Given the description of an element on the screen output the (x, y) to click on. 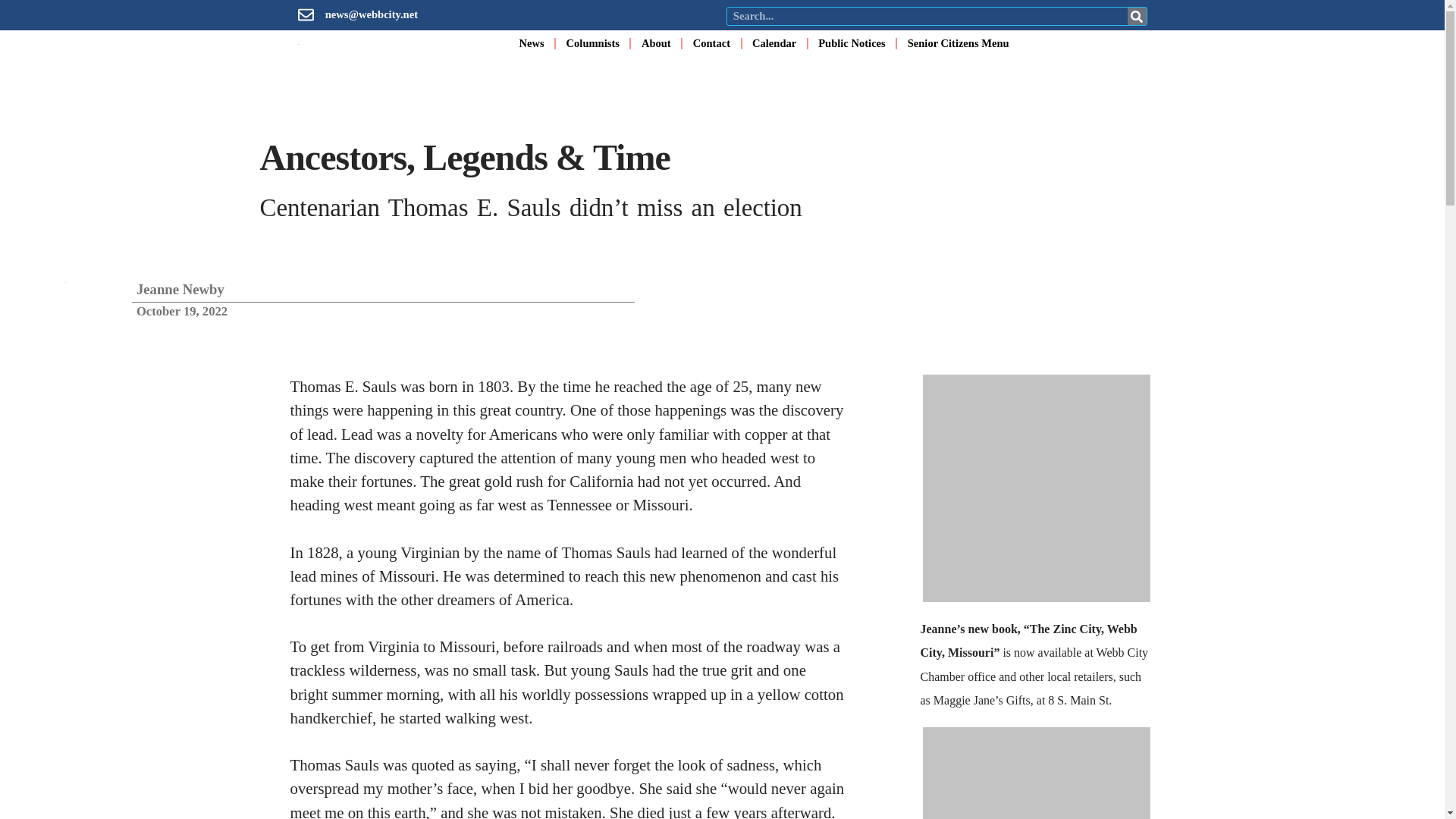
Columnists (593, 43)
News (530, 43)
Senior Citizens Menu (958, 43)
Public Notices (851, 43)
Calendar (774, 43)
Contact (711, 43)
About (656, 43)
